Given the description of an element on the screen output the (x, y) to click on. 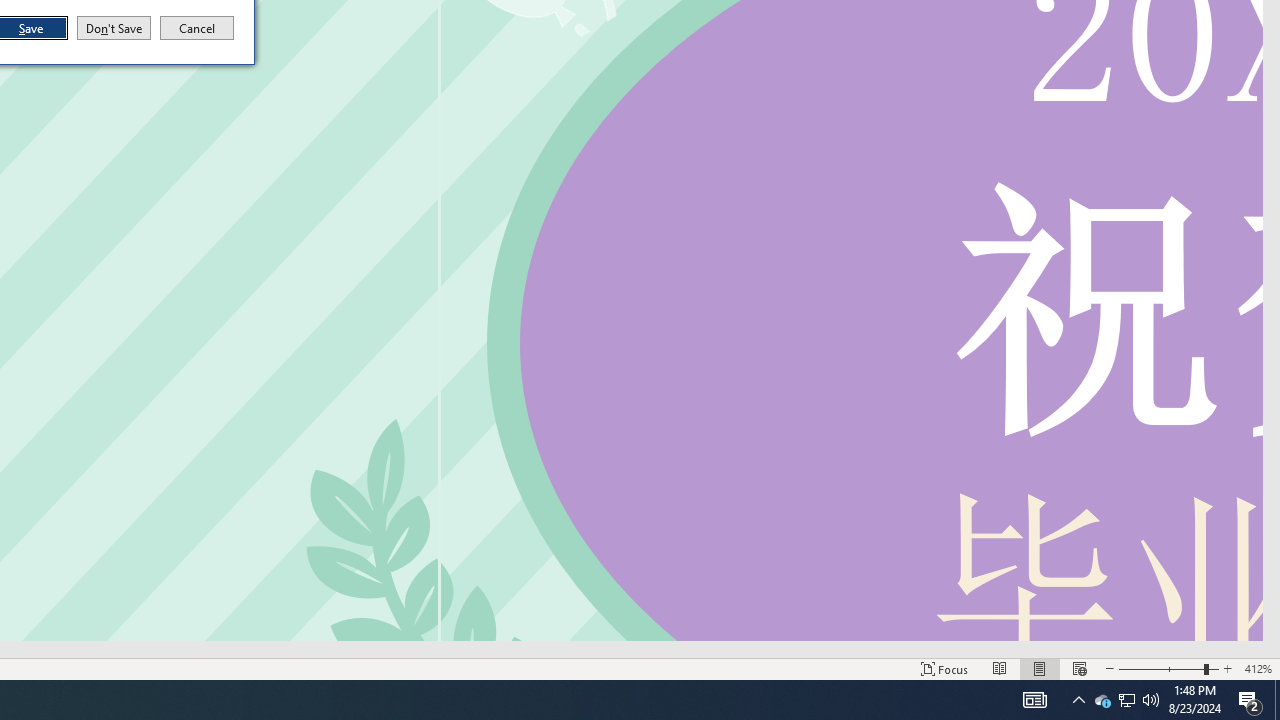
AutomationID: 4105 (1034, 699)
User Promoted Notification Area (1102, 699)
Q2790: 100% (1126, 699)
Don't Save (1126, 699)
Notification Chevron (1151, 699)
Action Center, 2 new notifications (113, 27)
